Given the description of an element on the screen output the (x, y) to click on. 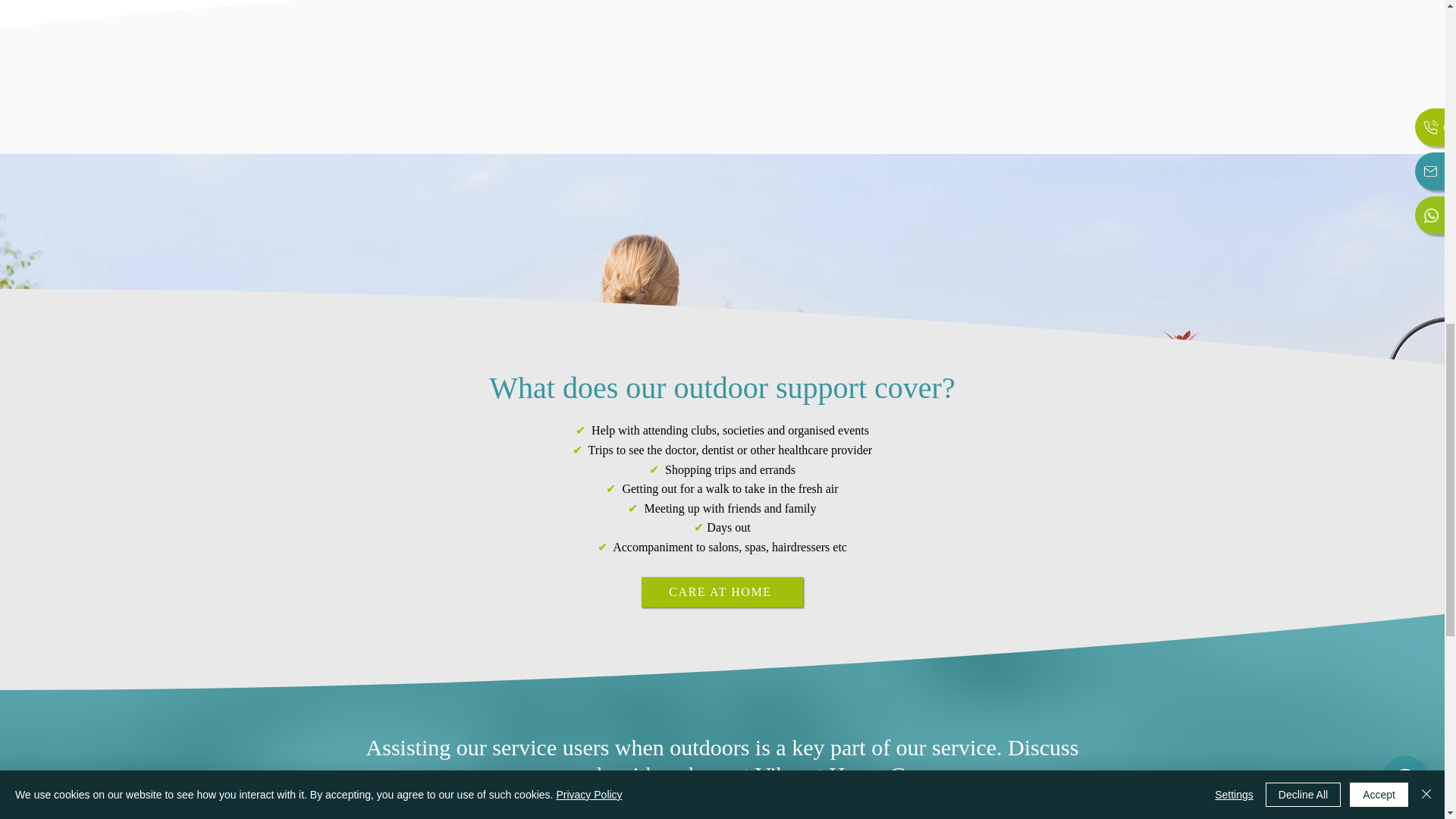
CARE AT HOME (722, 592)
